Given the description of an element on the screen output the (x, y) to click on. 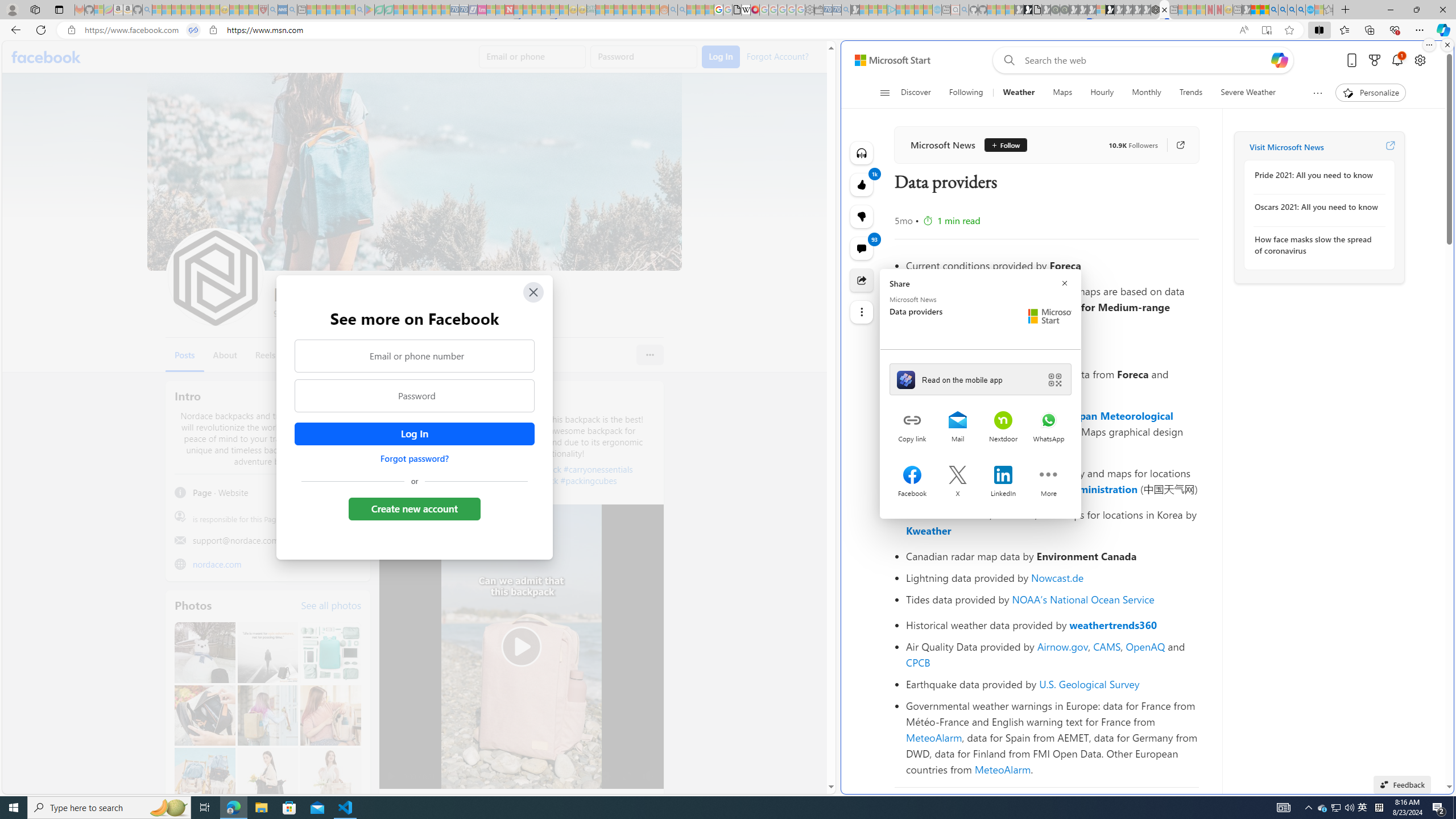
Email or phone (532, 56)
Kweather (928, 530)
